Given the description of an element on the screen output the (x, y) to click on. 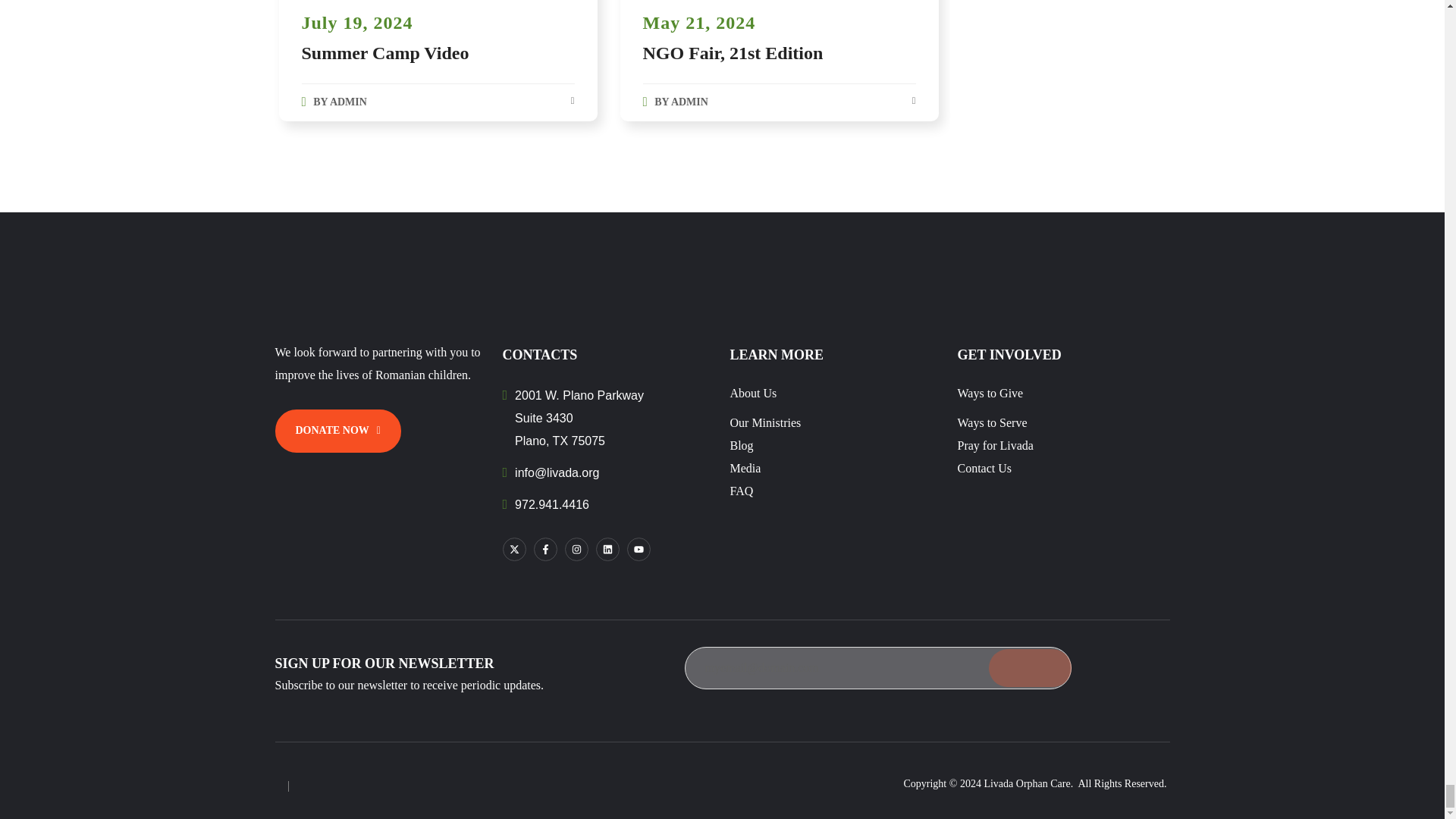
Sign up (1029, 668)
